Given the description of an element on the screen output the (x, y) to click on. 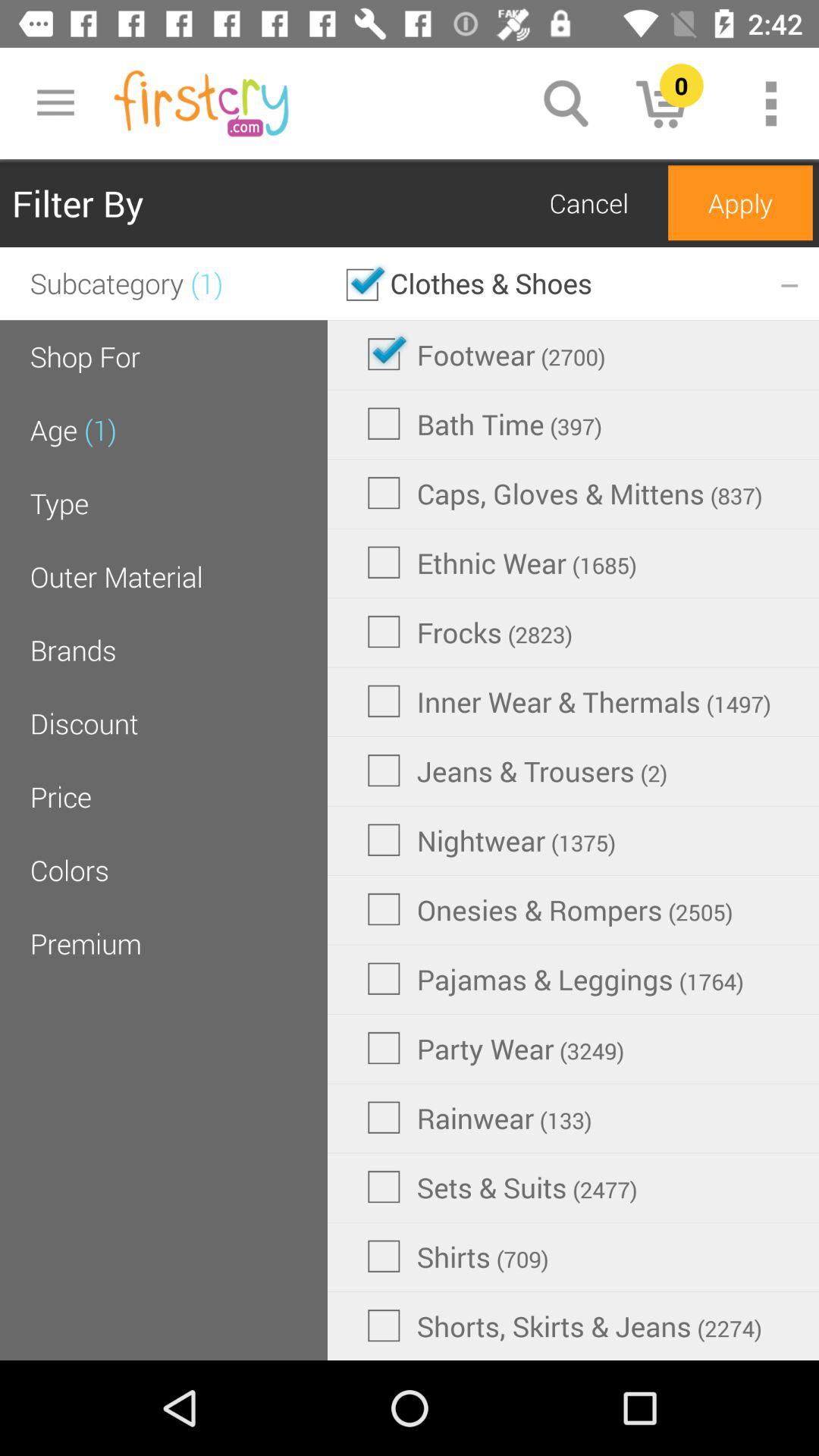
select the item to the left of onesies & rompers (2505) (85, 943)
